Given the description of an element on the screen output the (x, y) to click on. 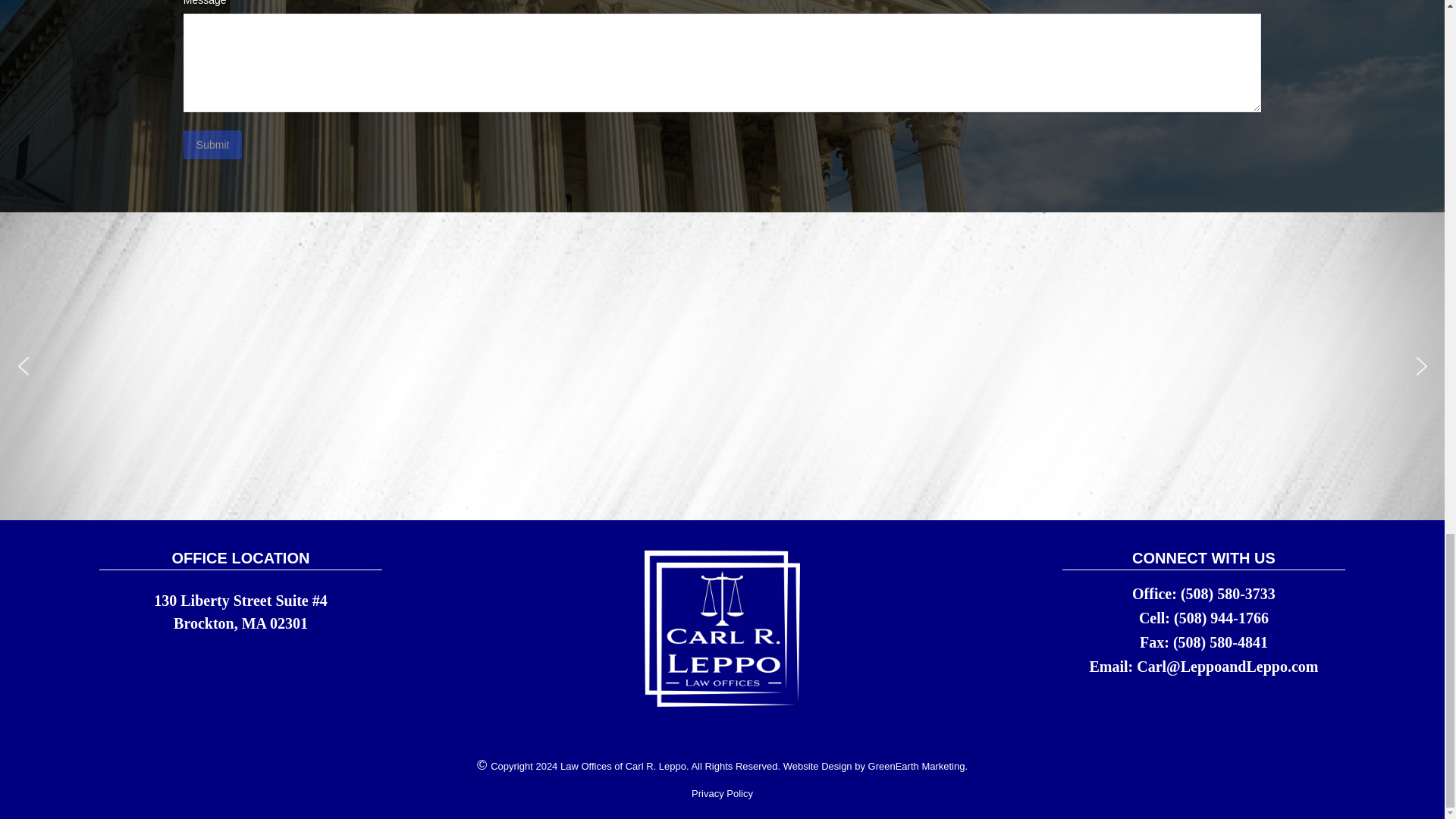
GreenEarth Marketing (916, 766)
Submit (213, 144)
Submit (213, 144)
